Given the description of an element on the screen output the (x, y) to click on. 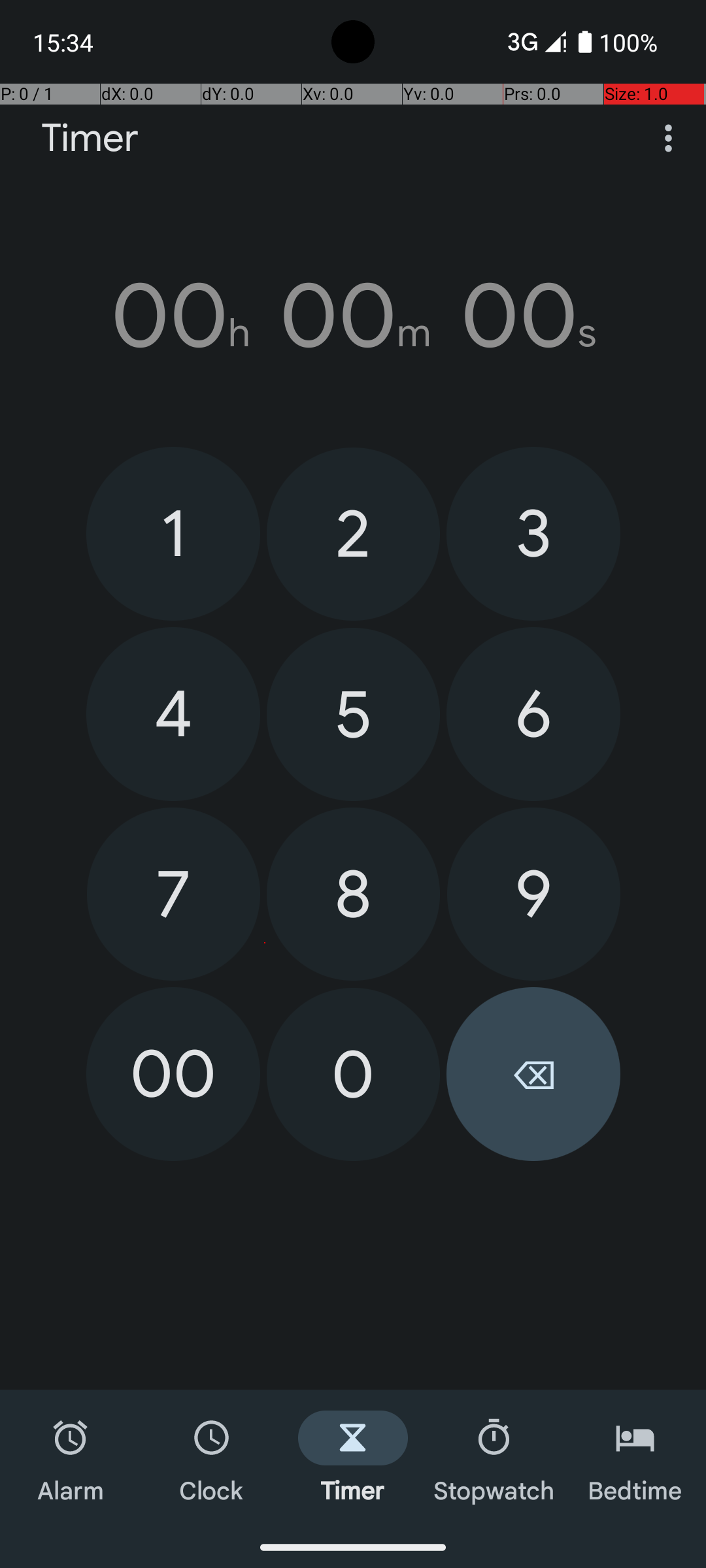
00h 00m 00s Element type: android.widget.TextView (353, 315)
